Given the description of an element on the screen output the (x, y) to click on. 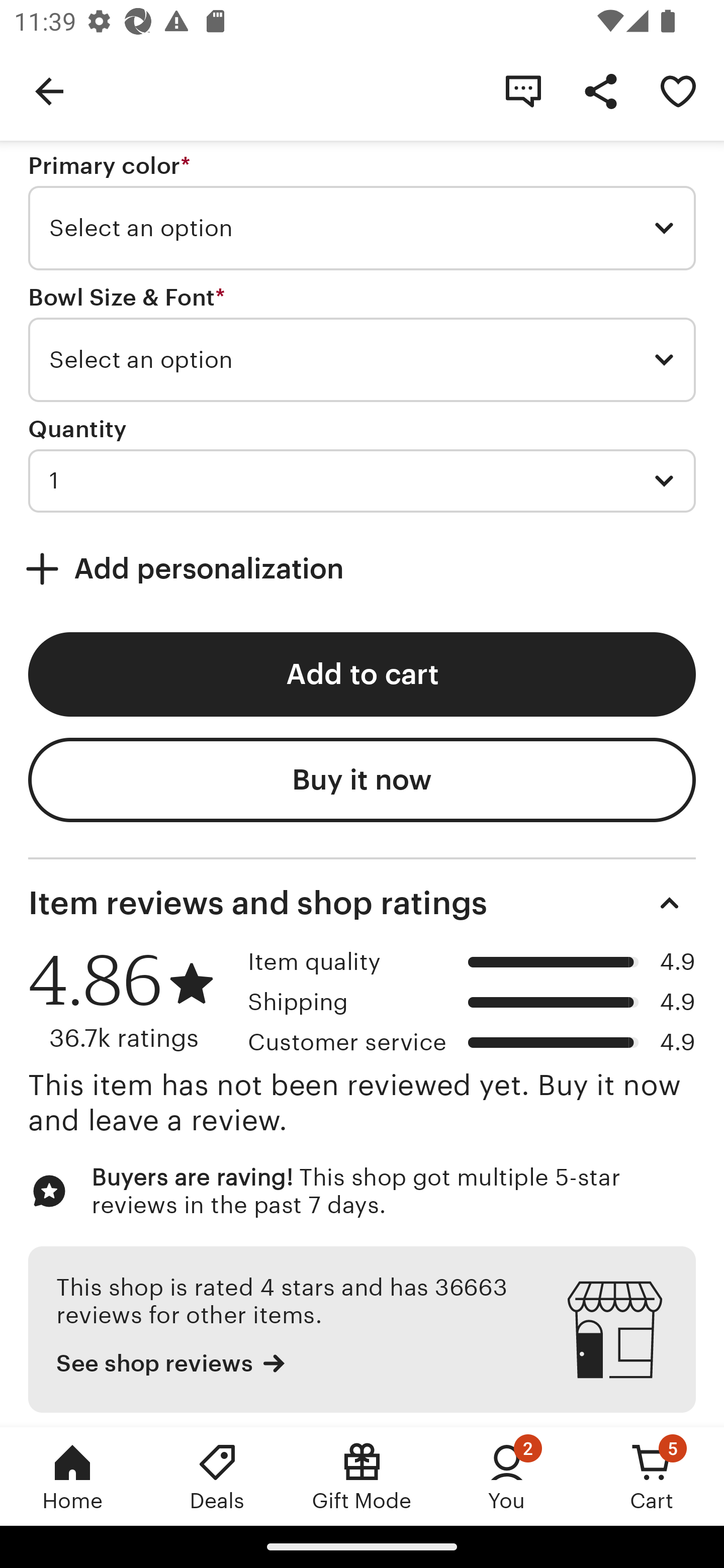
Navigate up (49, 90)
Contact shop (523, 90)
Share (600, 90)
Primary color * Required Select an option (361, 210)
Select an option (361, 227)
Bowl Size & Font * Required Select an option (361, 342)
Select an option (361, 359)
Quantity (77, 428)
1 (361, 481)
Add personalization Add personalization Required (362, 568)
Add to cart (361, 673)
Buy it now (361, 779)
Item reviews and shop ratings (362, 902)
4.86 36.7k ratings (130, 1000)
Deals (216, 1475)
Gift Mode (361, 1475)
You, 2 new notifications You (506, 1475)
Cart, 5 new notifications Cart (651, 1475)
